Given the description of an element on the screen output the (x, y) to click on. 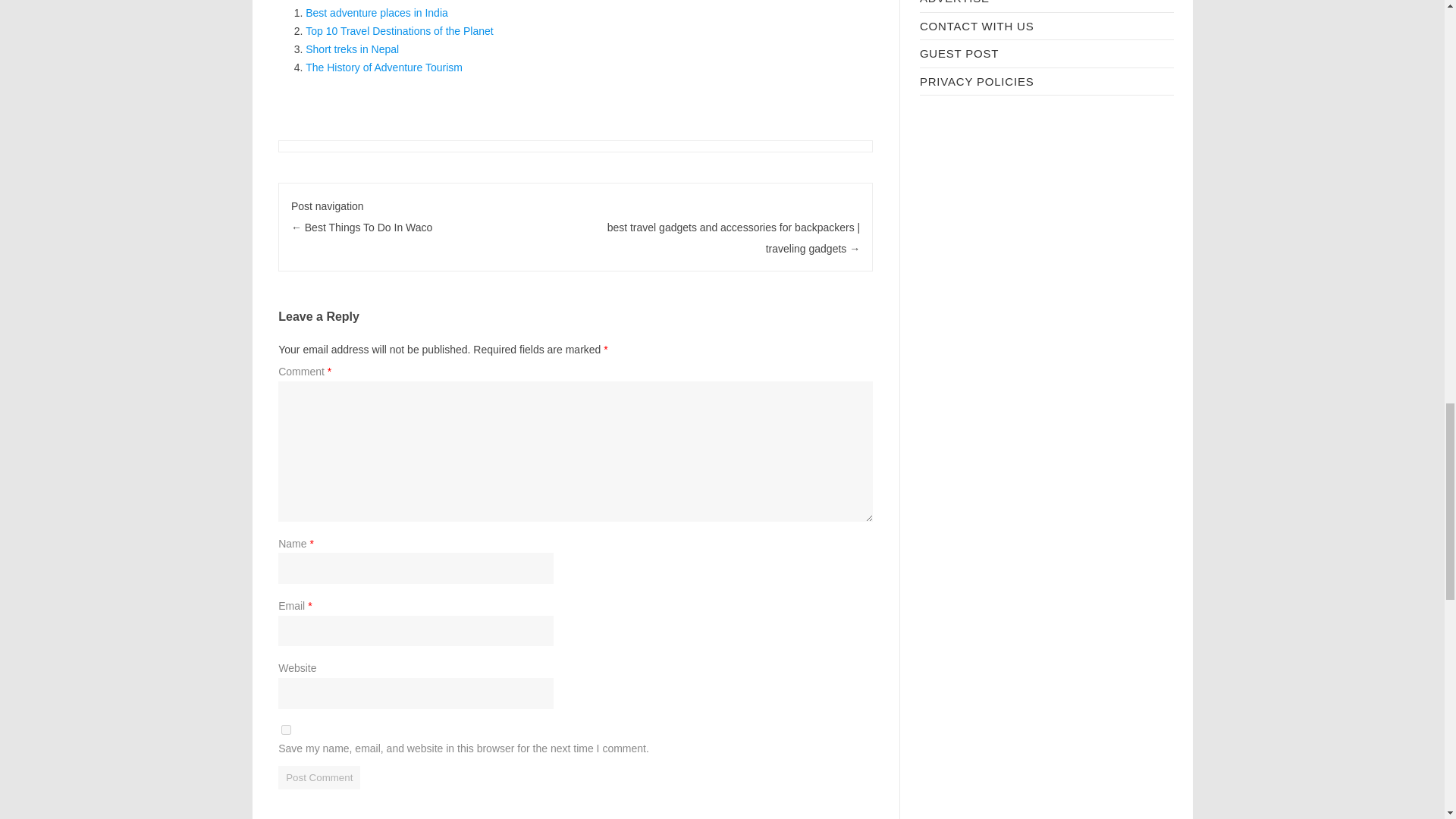
yes (286, 729)
Best adventure places in India (376, 12)
Post Comment (318, 777)
